Given the description of an element on the screen output the (x, y) to click on. 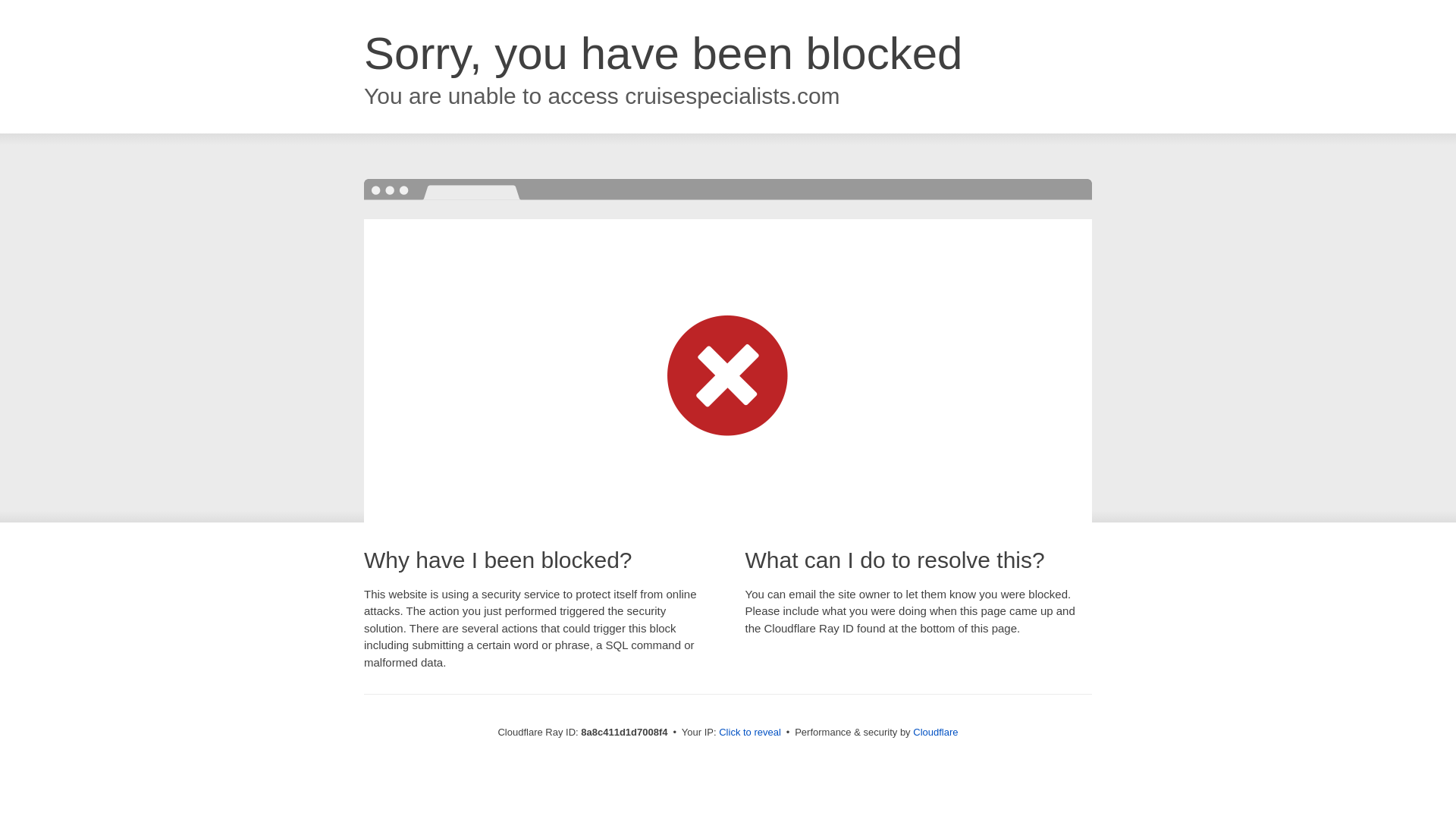
Click to reveal (749, 732)
Cloudflare (935, 731)
